Given the description of an element on the screen output the (x, y) to click on. 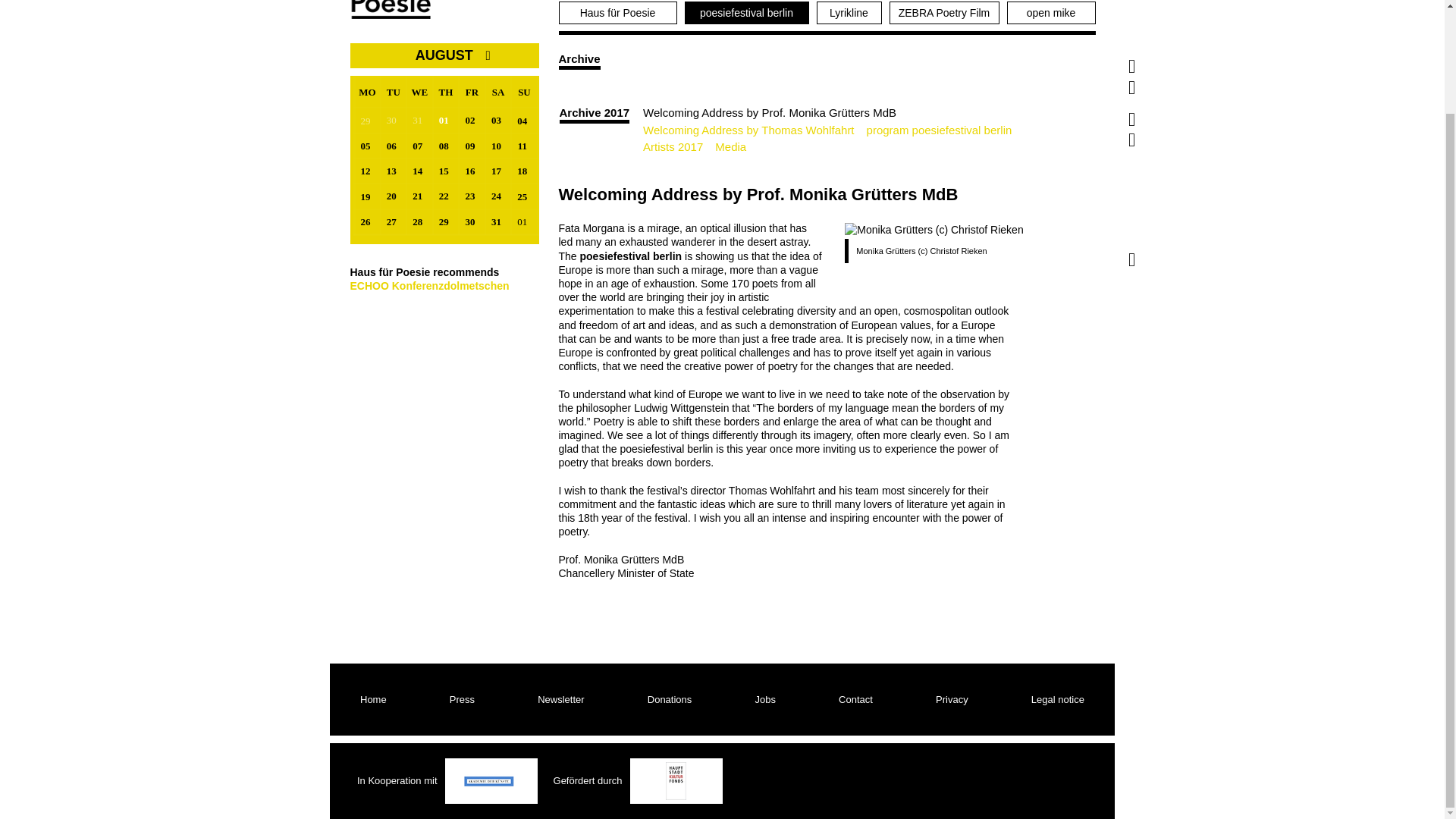
30 (393, 119)
29 (366, 120)
Das Poesiefestival-Berlin bei Facebook (1130, 4)
